Given the description of an element on the screen output the (x, y) to click on. 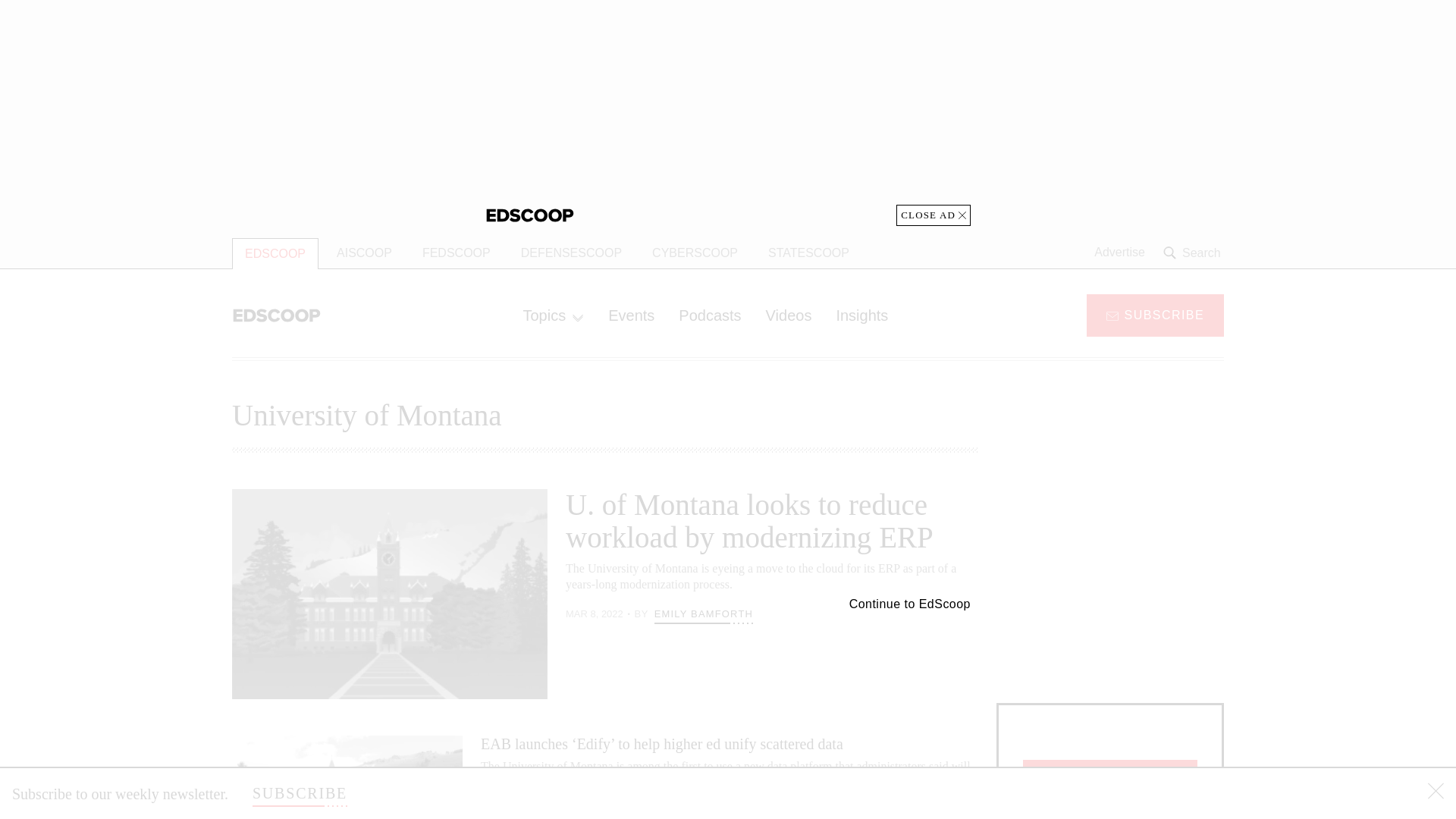
Insights (861, 315)
STATESCOOP (808, 253)
Podcasts (709, 315)
SUBSCRIBE (1155, 314)
3rd party ad content (727, 112)
U. of Montana looks to reduce workload by modernizing ERP (749, 520)
DEFENSESCOOP (570, 253)
EMILY BAMFORTH (702, 613)
Events (630, 315)
FEDSCOOP (456, 253)
3rd party ad content (1109, 583)
CYBERSCOOP (694, 253)
Search (1193, 252)
SUBSCRIBE (299, 793)
